Given the description of an element on the screen output the (x, y) to click on. 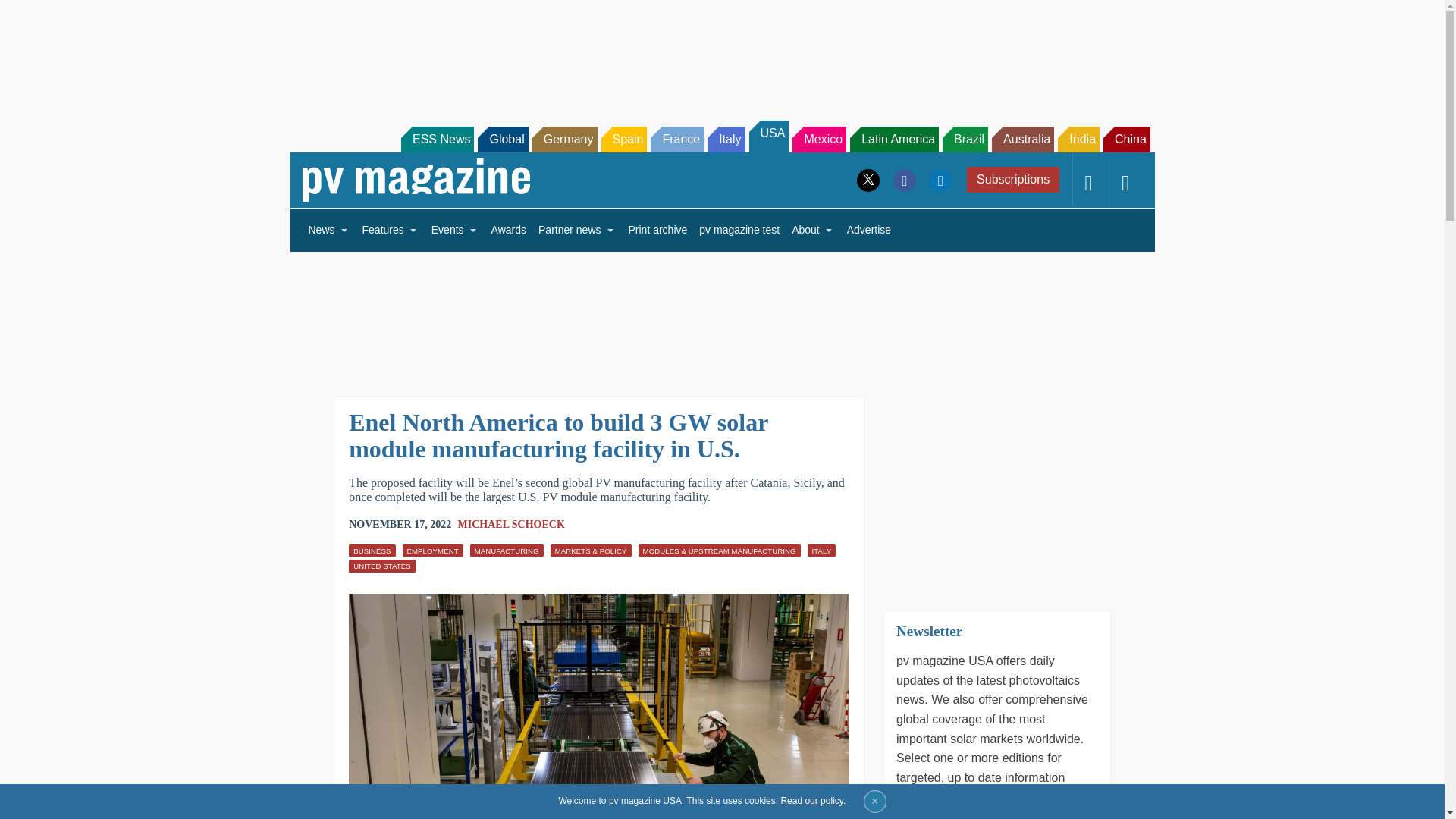
Italy (725, 139)
3rd party ad content (996, 491)
Spain (622, 139)
China (1126, 139)
France (676, 139)
Posts by Michael Schoeck (511, 523)
pv magazine - Photovoltaics Markets and Technology (415, 179)
Global (502, 139)
Germany (564, 139)
3rd party ad content (721, 51)
